Given the description of an element on the screen output the (x, y) to click on. 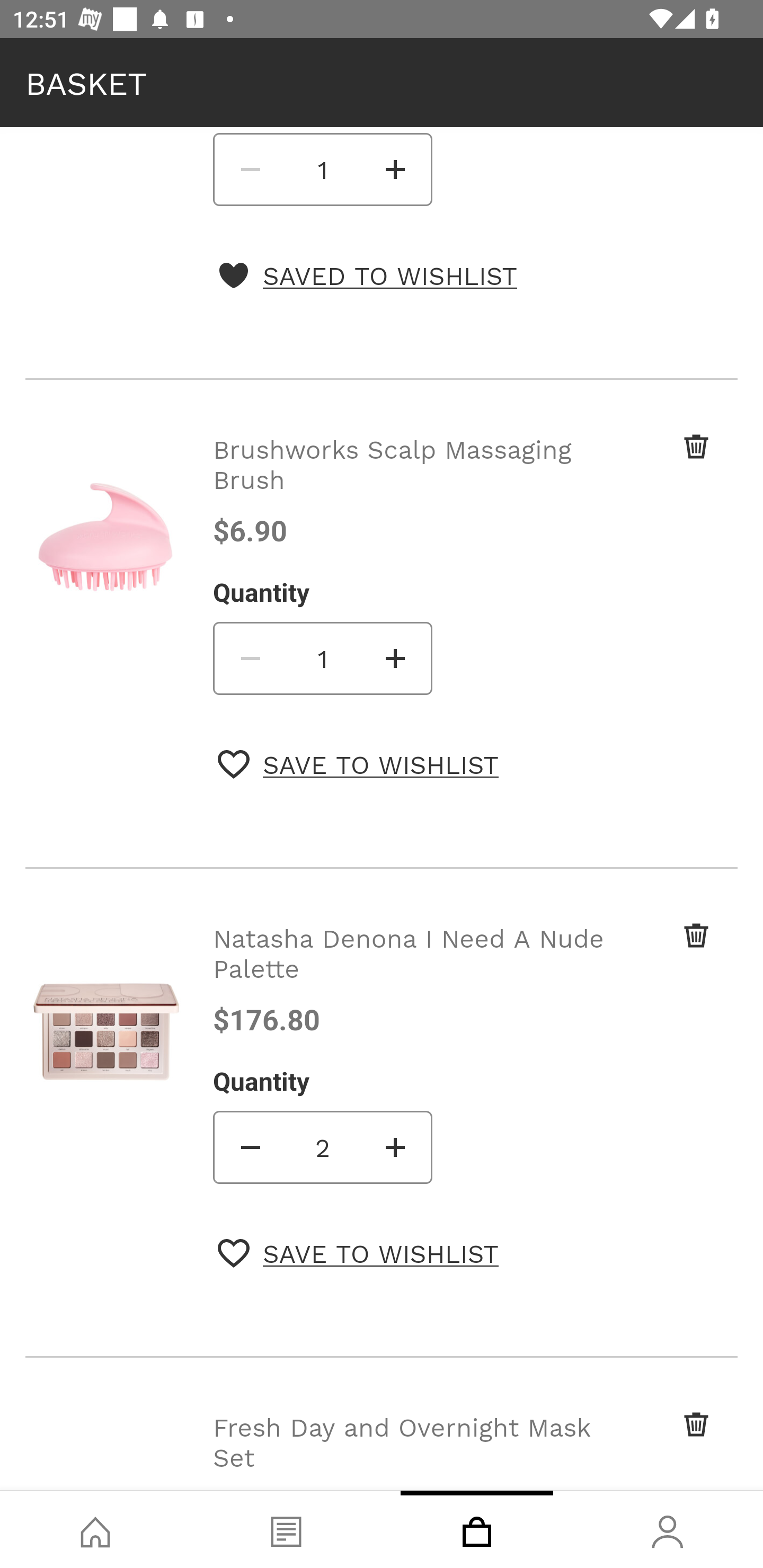
Decrease quantity (249, 169)
Increase quantity (395, 169)
Saved to Wishlist SAVED TO WISHLIST (366, 275)
Brushworks Scalp Massaging Brush $6.90 (412, 489)
Remove this item (661, 464)
Decrease quantity (249, 658)
Increase quantity (395, 658)
Save to Wishlist SAVE TO WISHLIST (357, 764)
Natasha Denona I Need A Nude Palette $176.80 (412, 978)
Remove this item (661, 952)
Decrease quantity (249, 1146)
Increase quantity (395, 1146)
Save to Wishlist SAVE TO WISHLIST (357, 1252)
Fresh Day and Overnight Mask Set $116.80 (412, 1448)
Remove this item (661, 1441)
Shop, tab, 1 of 4 (95, 1529)
Blog, tab, 2 of 4 (285, 1529)
Basket, tab, 3 of 4 (476, 1529)
Account, tab, 4 of 4 (667, 1529)
